Given the description of an element on the screen output the (x, y) to click on. 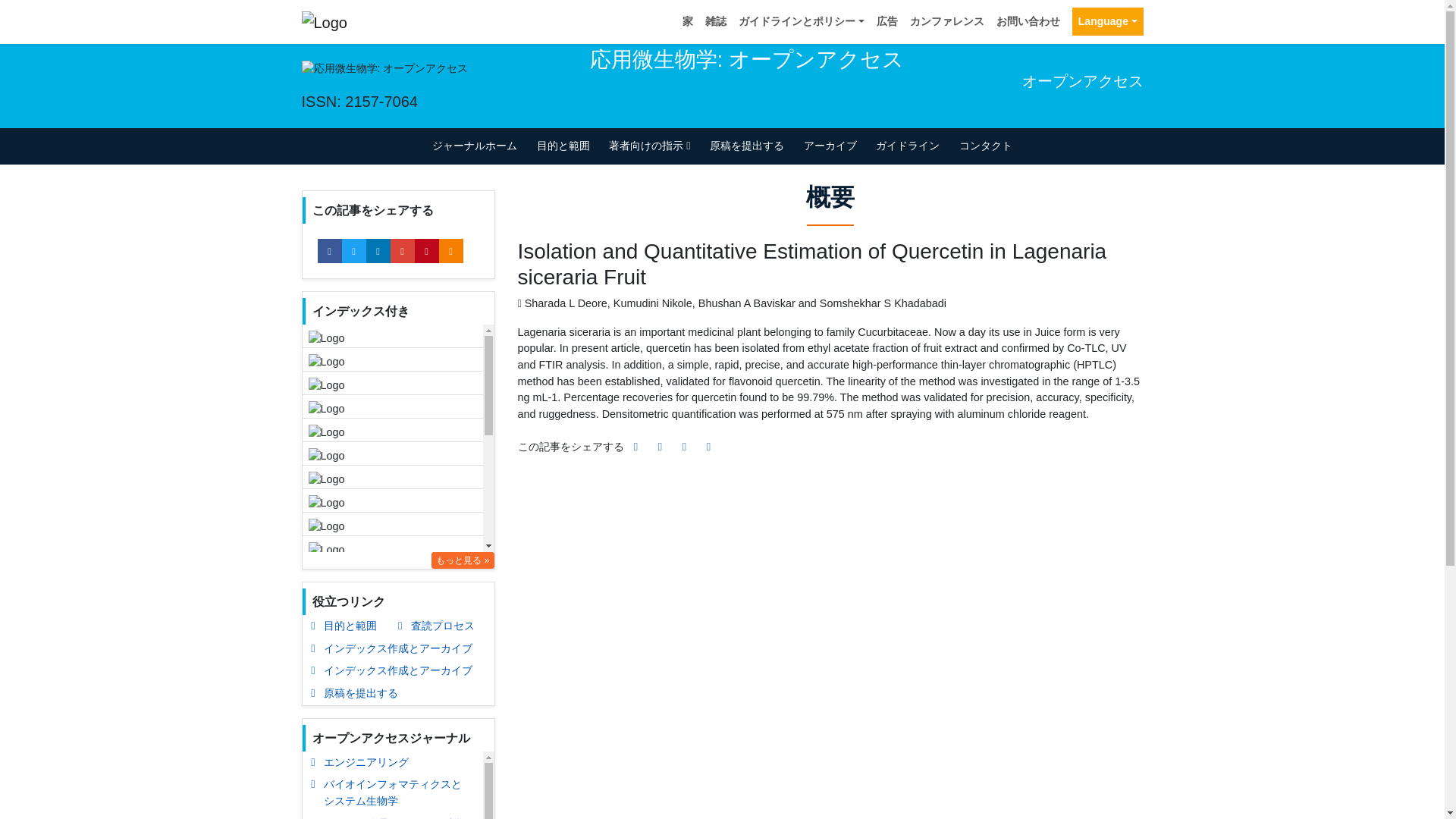
Language (1106, 21)
